Given the description of an element on the screen output the (x, y) to click on. 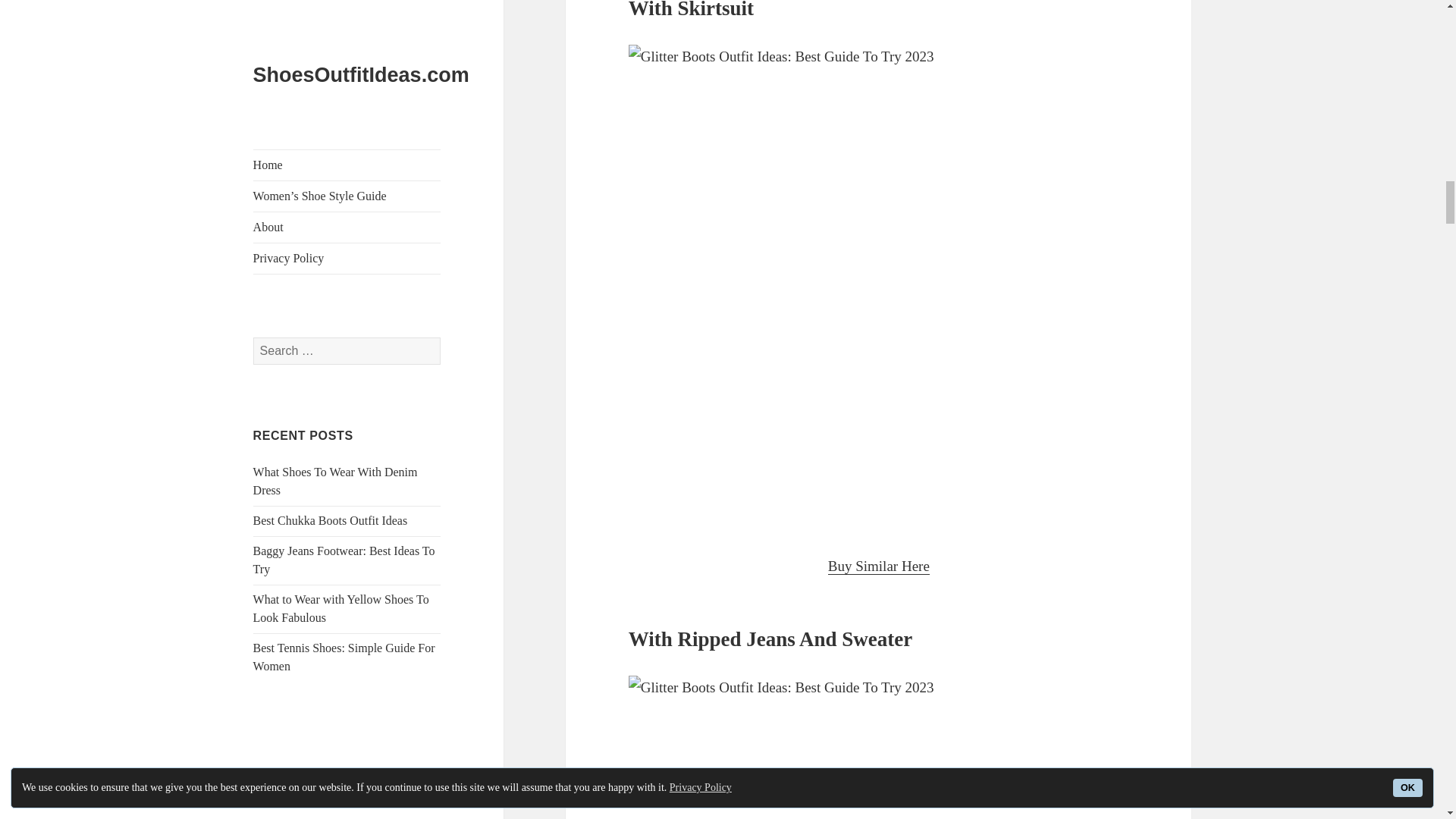
Buy Similar Here (879, 565)
Glitter Boots Outfit Ideas: Best Guide To Try 2023 (878, 747)
